Given the description of an element on the screen output the (x, y) to click on. 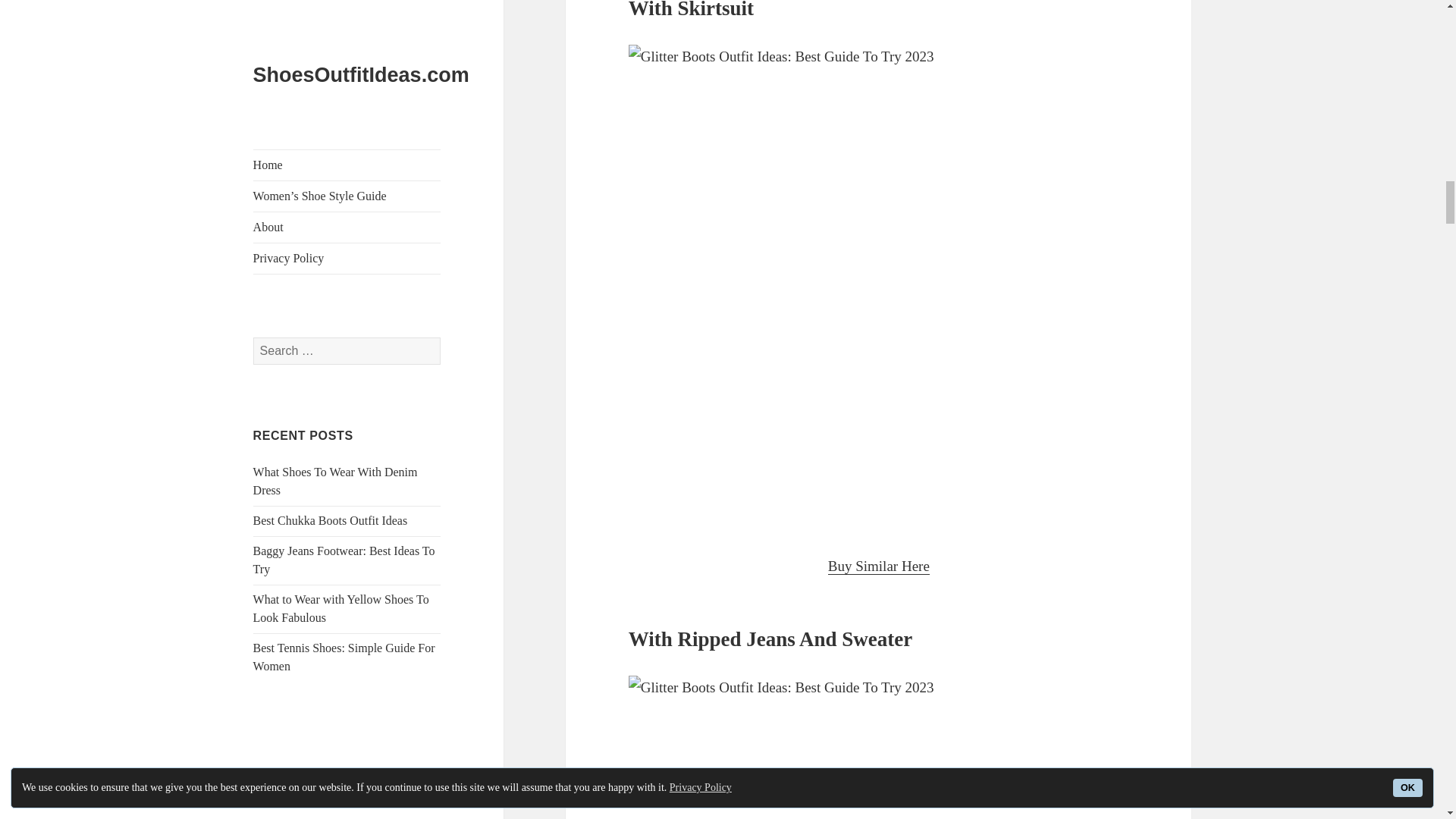
Buy Similar Here (879, 565)
Glitter Boots Outfit Ideas: Best Guide To Try 2023 (878, 747)
